Given the description of an element on the screen output the (x, y) to click on. 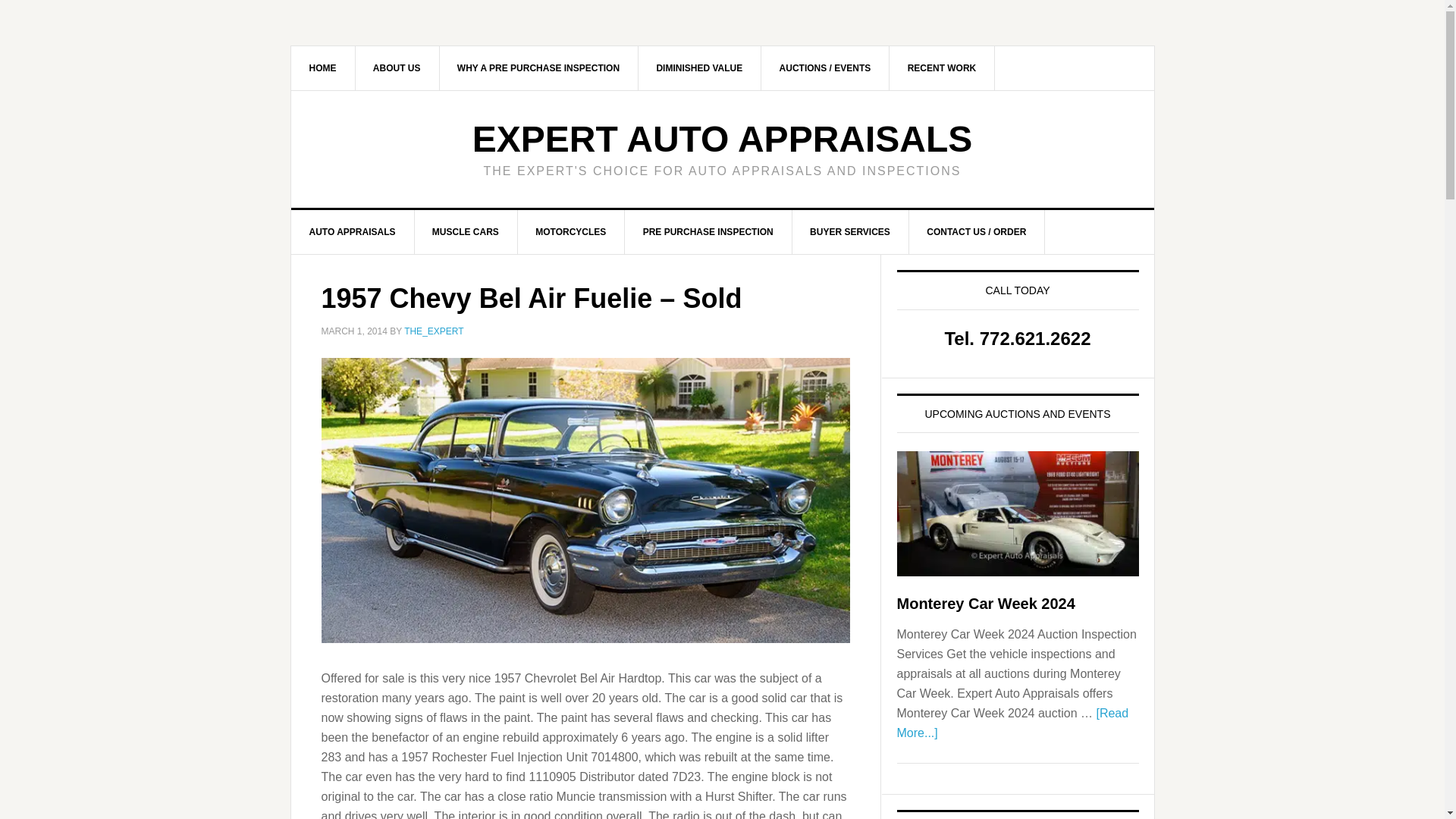
PRE PURCHASE INSPECTION (708, 231)
ABOUT US (397, 67)
MOTORCYCLES (570, 231)
MUSCLE CARS (465, 231)
WHY A PRE PURCHASE INSPECTION (539, 67)
BUYER SERVICES (850, 231)
AUTO APPRAISALS (352, 231)
DIMINISHED VALUE (699, 67)
HOME (323, 67)
EXPERT AUTO APPRAISALS (721, 138)
